Given the description of an element on the screen output the (x, y) to click on. 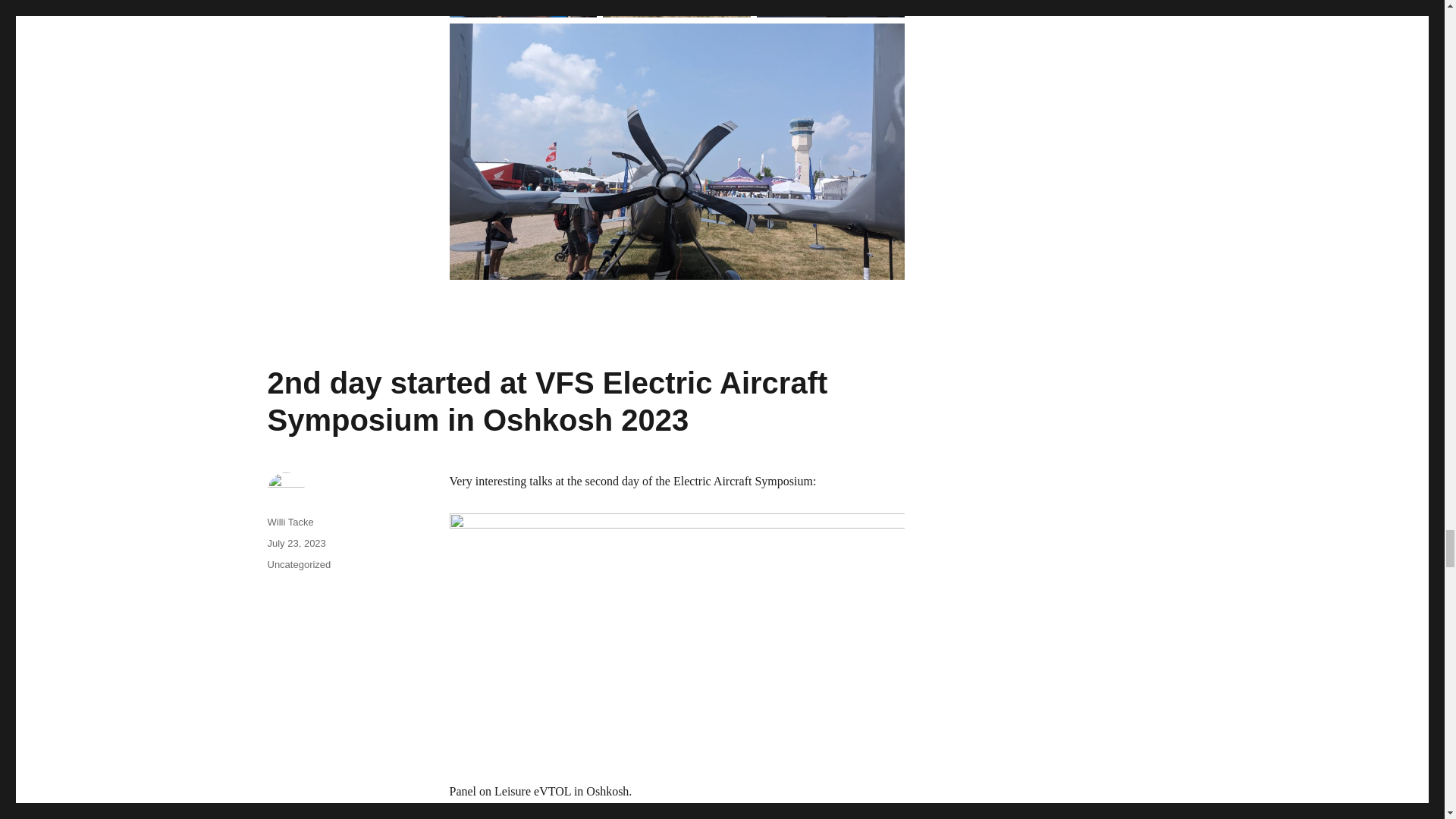
July 23, 2023 (295, 542)
Uncategorized (298, 564)
Willi Tacke (289, 521)
